Given the description of an element on the screen output the (x, y) to click on. 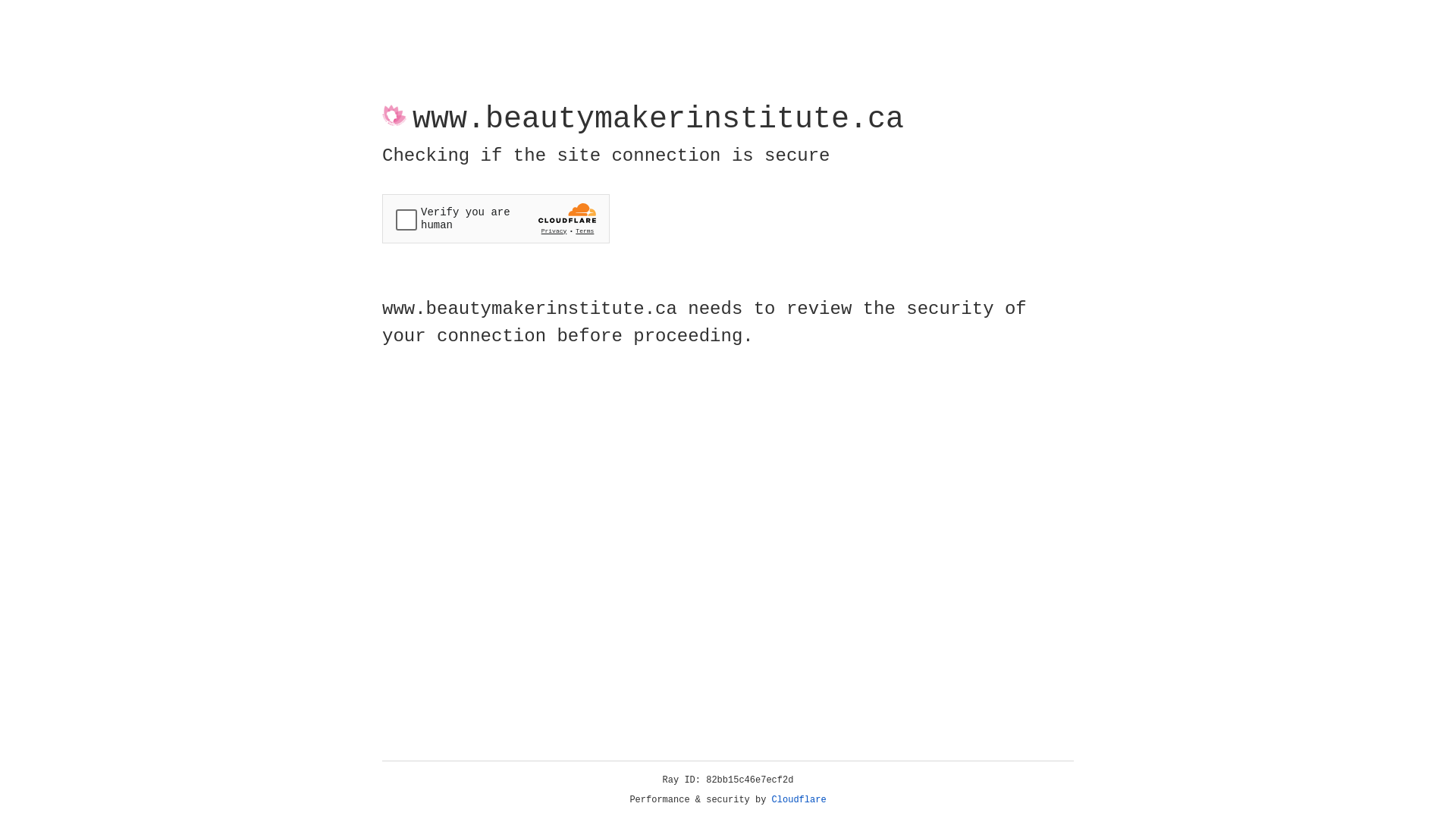
Widget containing a Cloudflare security challenge Element type: hover (495, 218)
Cloudflare Element type: text (798, 799)
